Given the description of an element on the screen output the (x, y) to click on. 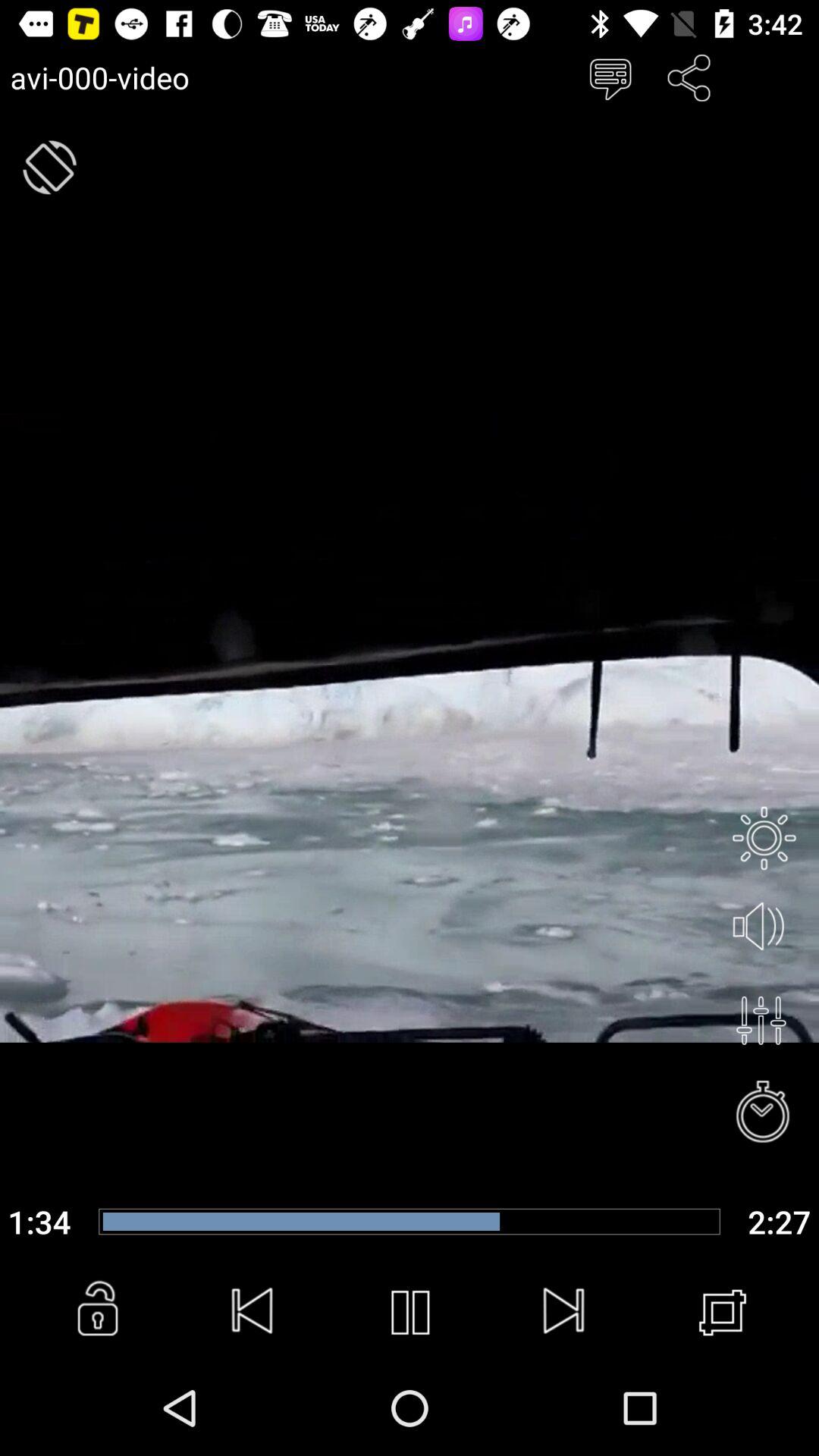
setting and privacy (764, 838)
